Given the description of an element on the screen output the (x, y) to click on. 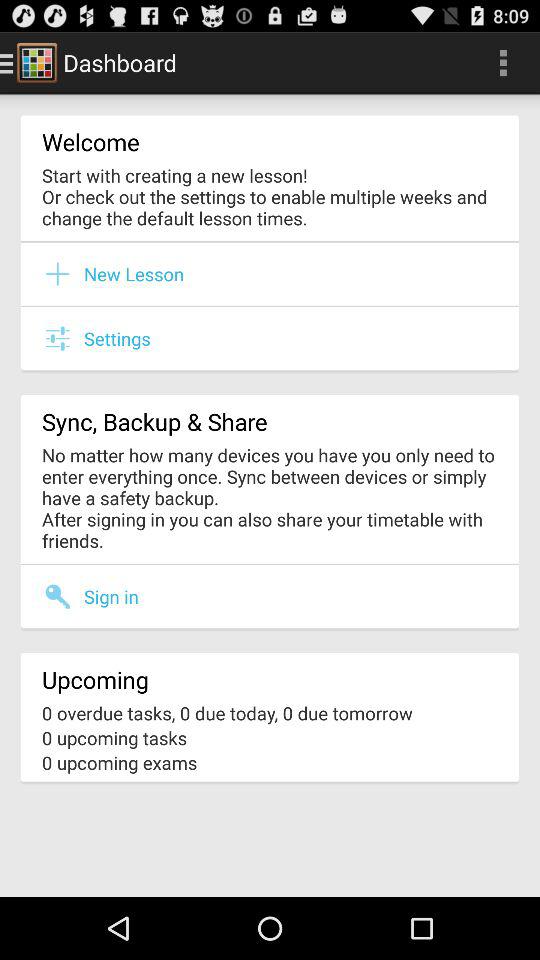
press item below start with creating item (270, 241)
